Given the description of an element on the screen output the (x, y) to click on. 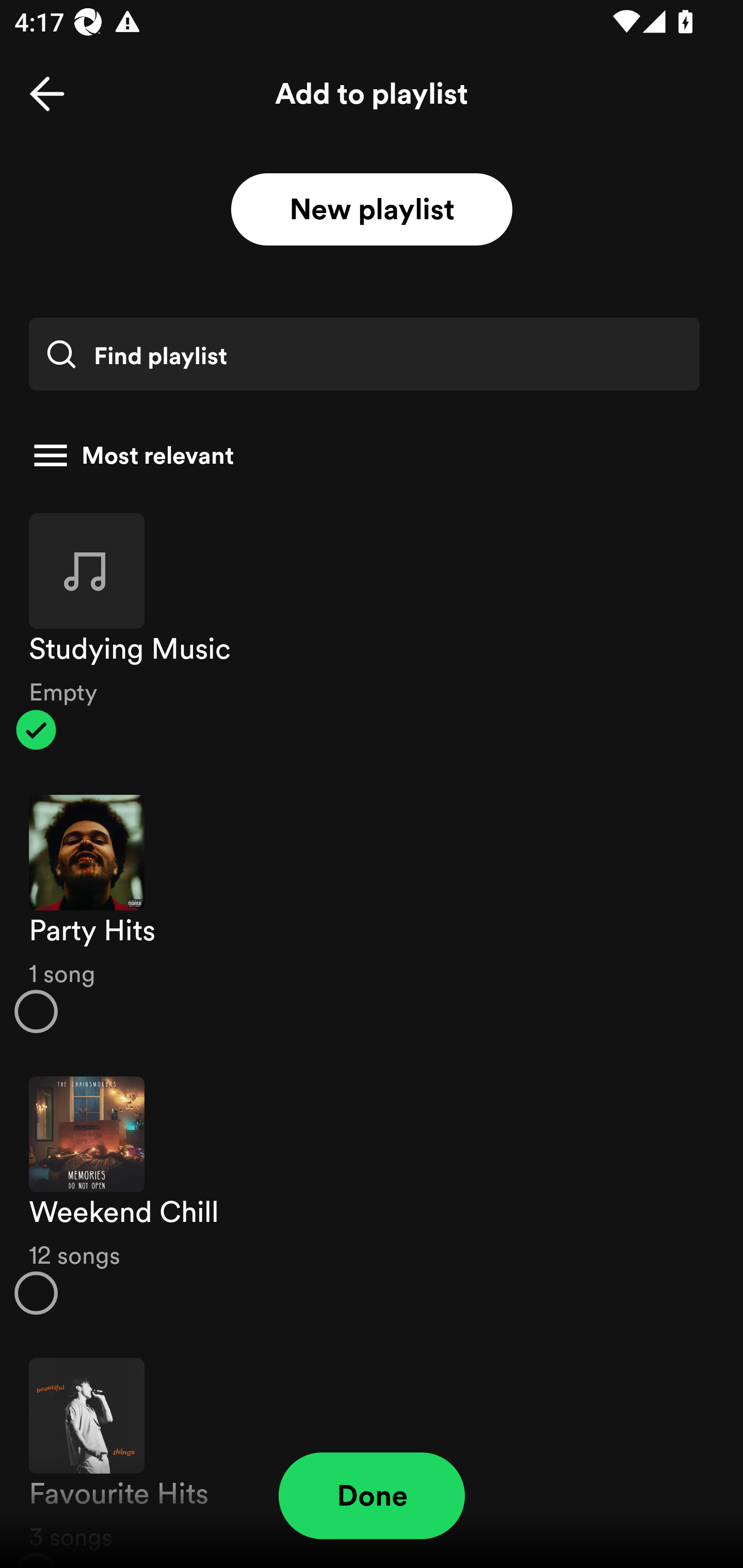
Back (46, 93)
New playlist (371, 210)
Find playlist (363, 354)
Most relevant (363, 455)
Studying Music Empty (371, 631)
Party Hits 1 song (371, 914)
Weekend Chill 12 songs (371, 1195)
Favourite Hits 3 songs (371, 1451)
Done (371, 1495)
